Given the description of an element on the screen output the (x, y) to click on. 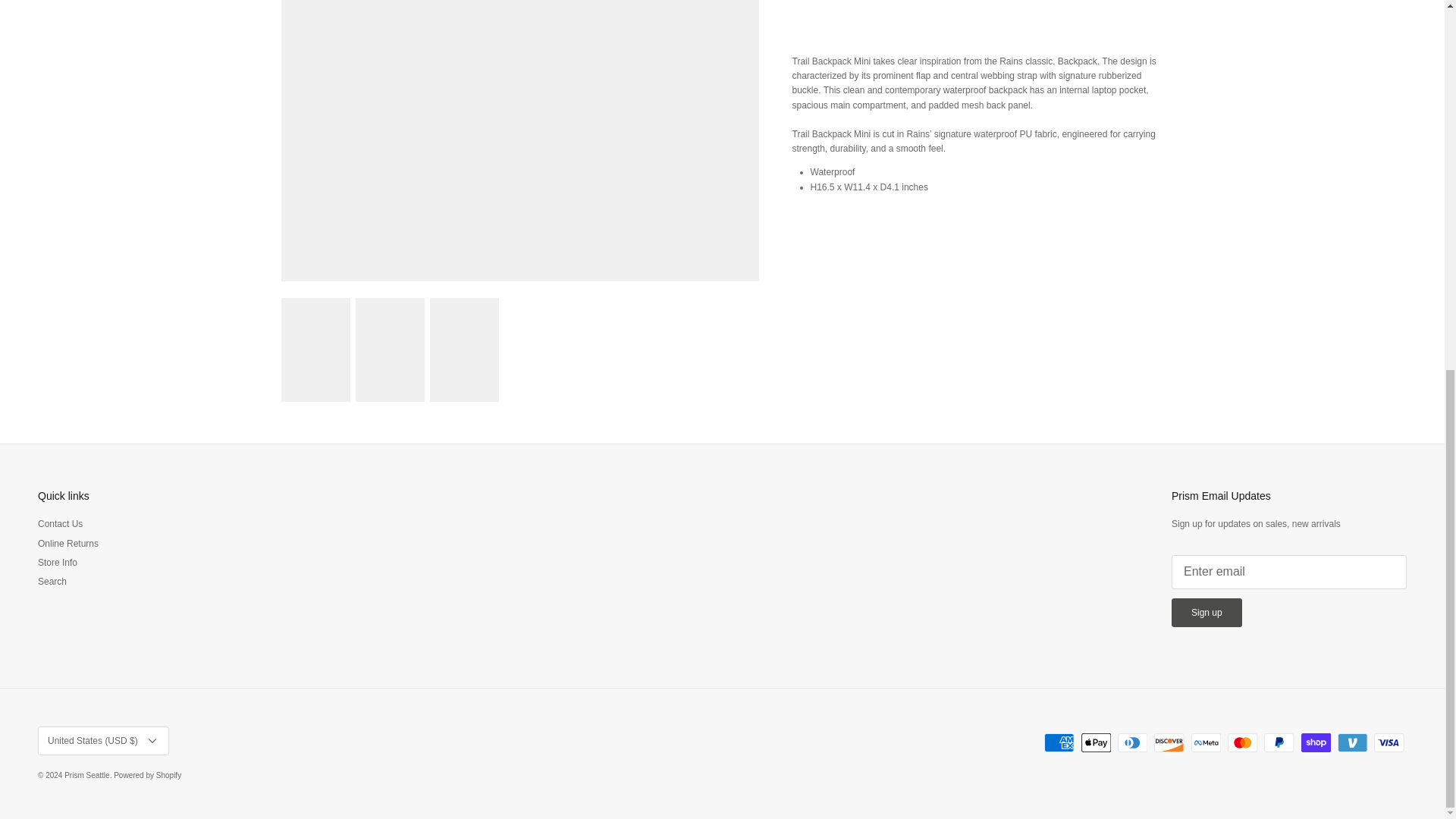
Mastercard (1242, 742)
Meta Pay (1206, 742)
Venmo (1352, 742)
Shop Pay (1315, 742)
Discover (1168, 742)
PayPal (1278, 742)
American Express (1058, 742)
Apple Pay (1095, 742)
Visa (1388, 742)
Diners Club (1132, 742)
Down (151, 740)
